Given the description of an element on the screen output the (x, y) to click on. 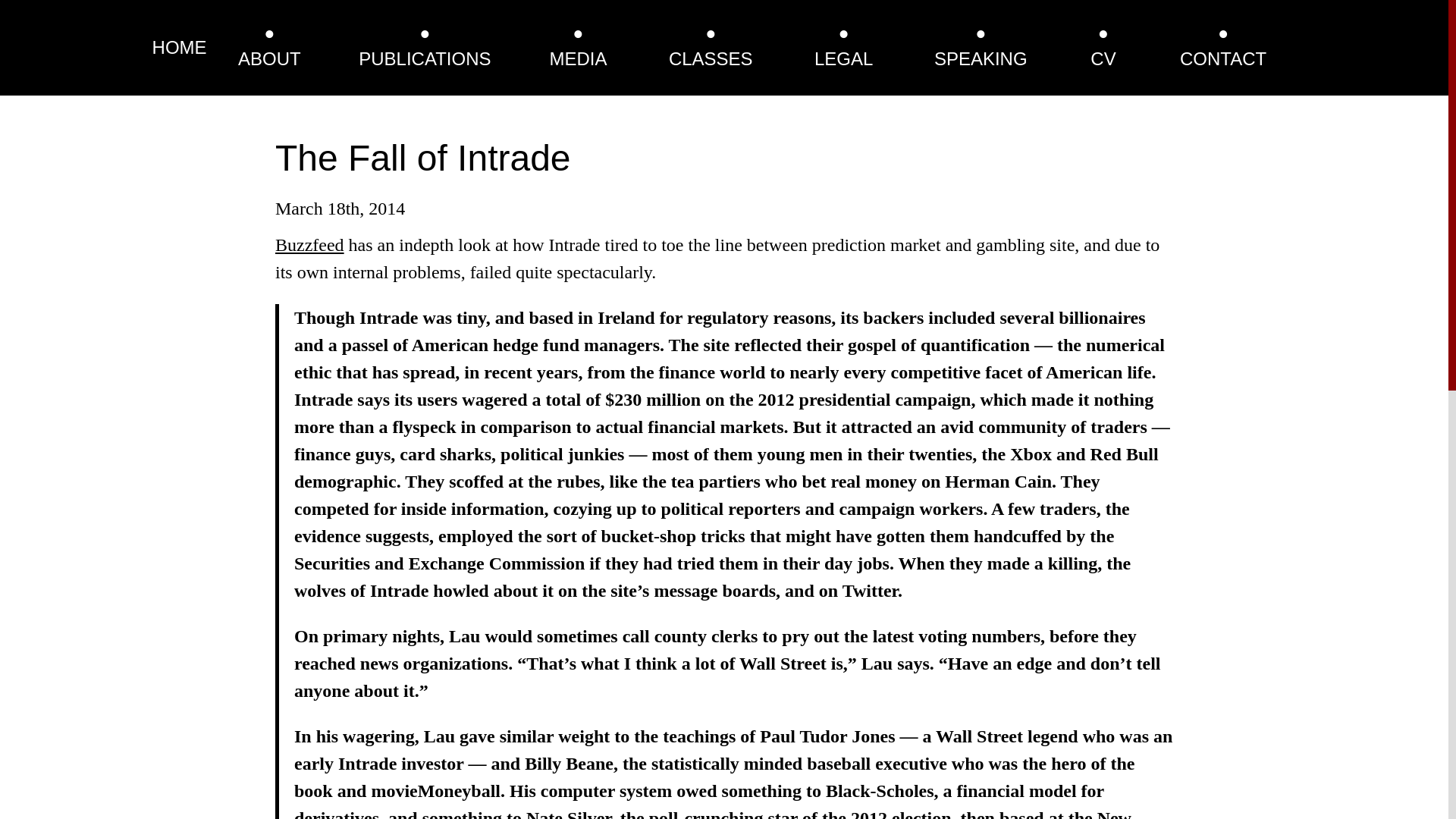
HOME (179, 47)
The Fall of Intrade (422, 158)
MEDIA (577, 58)
ABOUT (269, 58)
LEGAL (842, 58)
CV (1102, 58)
CLASSES (710, 58)
SPEAKING (980, 58)
Permanent Link to The Fall of Intrade (422, 158)
CONTACT (1222, 58)
PUBLICATIONS (424, 58)
Buzzfeed (309, 244)
